Given the description of an element on the screen output the (x, y) to click on. 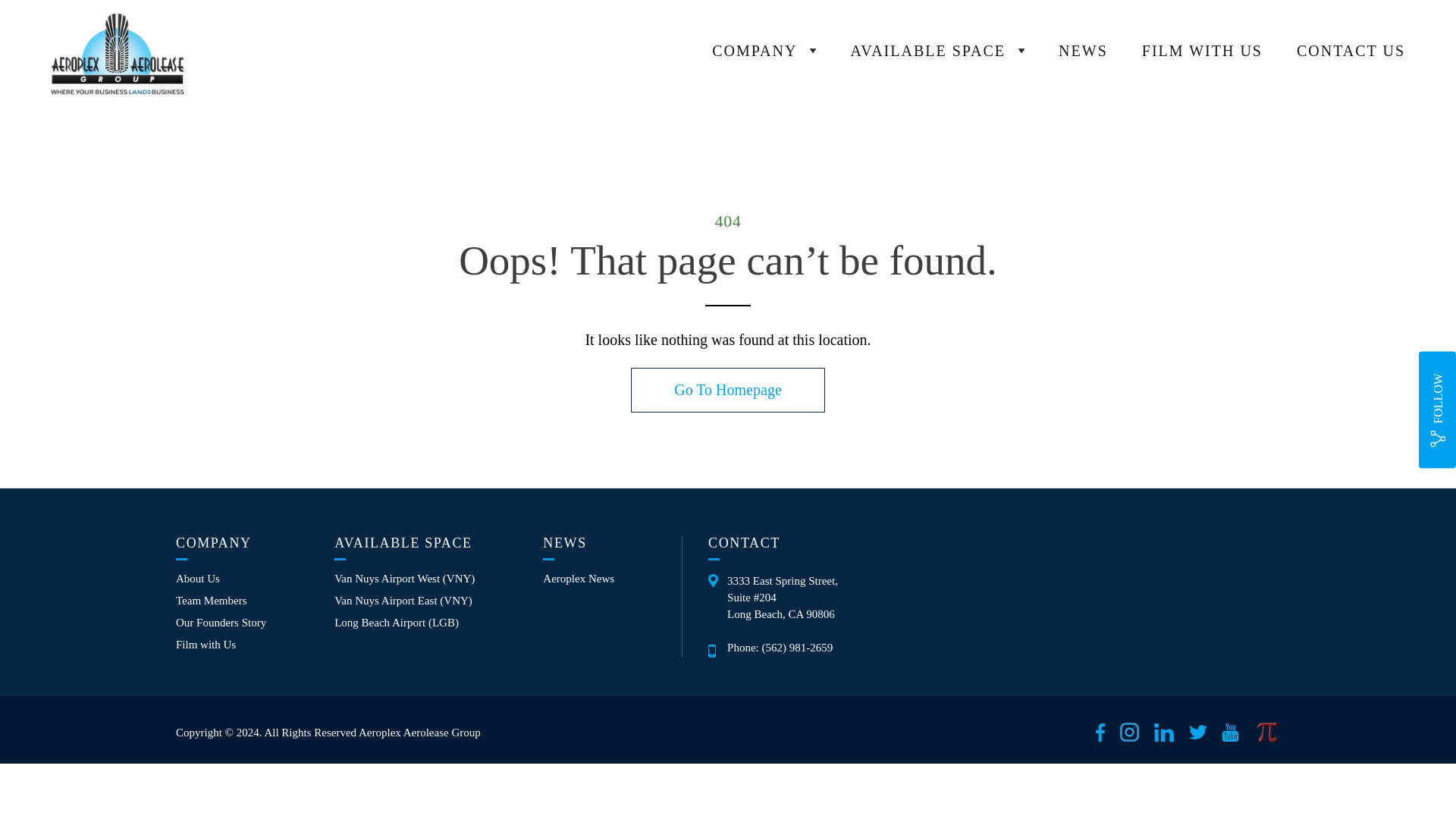
AVAILABLE SPACE (937, 50)
NEWS (1083, 50)
Aeroplex News (578, 578)
COMPANY (763, 50)
About Us (197, 578)
FILM WITH US (1201, 50)
Go To Homepage (727, 389)
Film with Us (205, 644)
Our Founders Story (221, 622)
CONTACT US (1351, 50)
Team Members (211, 600)
